Given the description of an element on the screen output the (x, y) to click on. 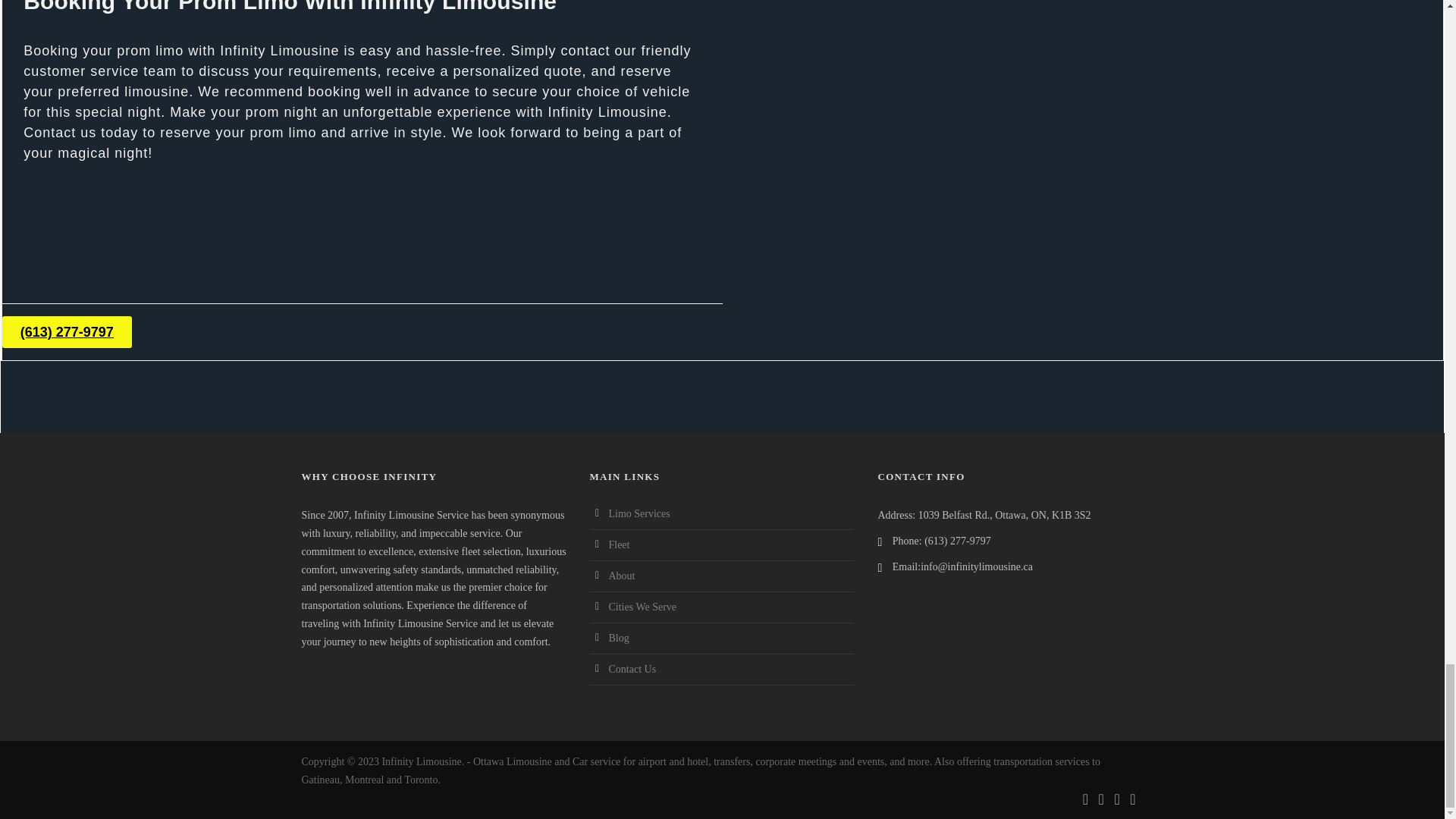
Cities We Serve (642, 606)
Blog (618, 637)
Limo Services (638, 513)
Fleet (618, 544)
Contact Us (632, 668)
About (621, 575)
